Given the description of an element on the screen output the (x, y) to click on. 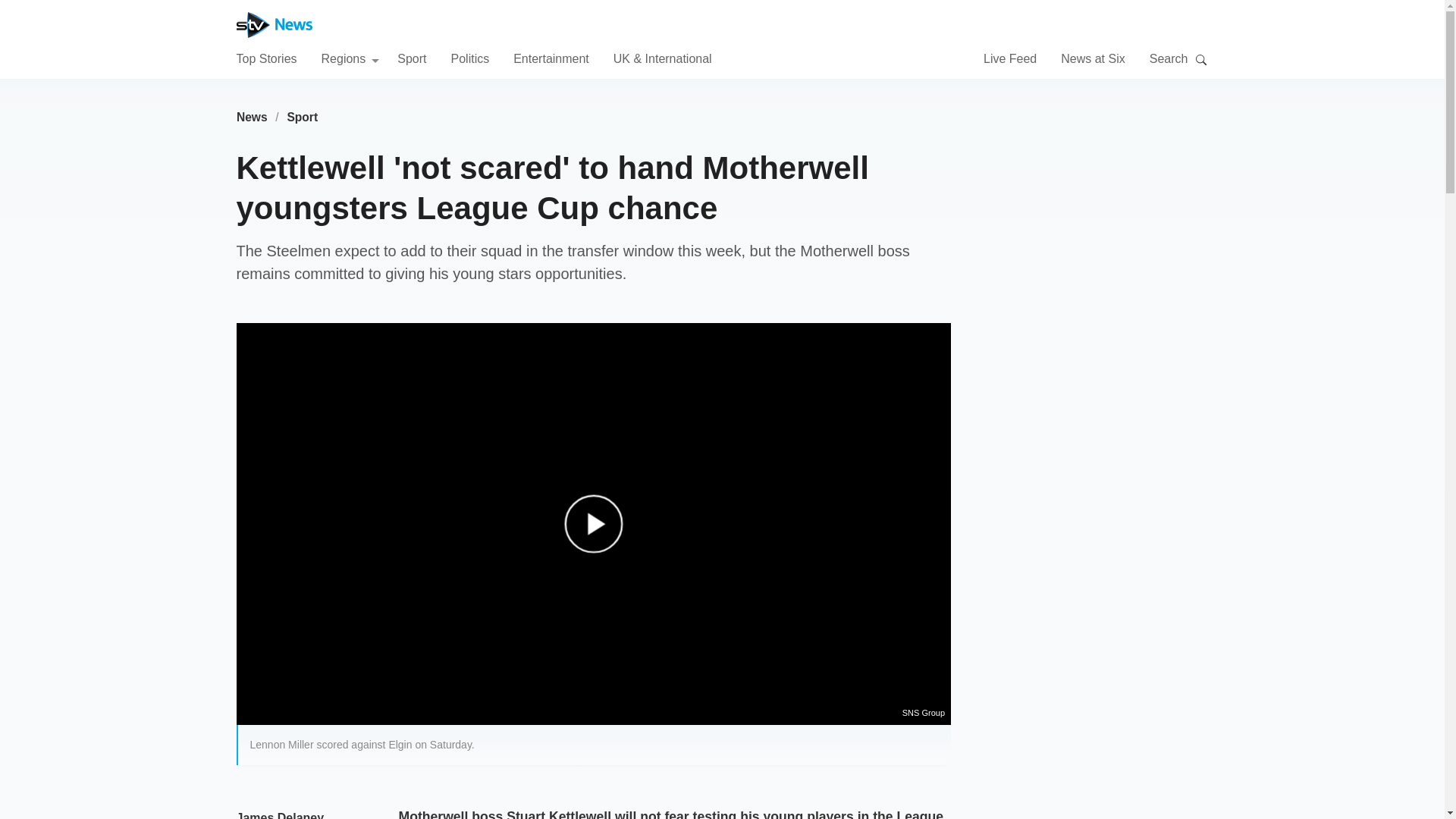
Live Feed (1010, 57)
Search (1201, 59)
Sport (302, 116)
Politics (469, 57)
Entertainment (551, 57)
Play Video (600, 530)
Top Stories (266, 57)
News at Six (1092, 57)
Regions (350, 57)
James Delaney (279, 815)
